Given the description of an element on the screen output the (x, y) to click on. 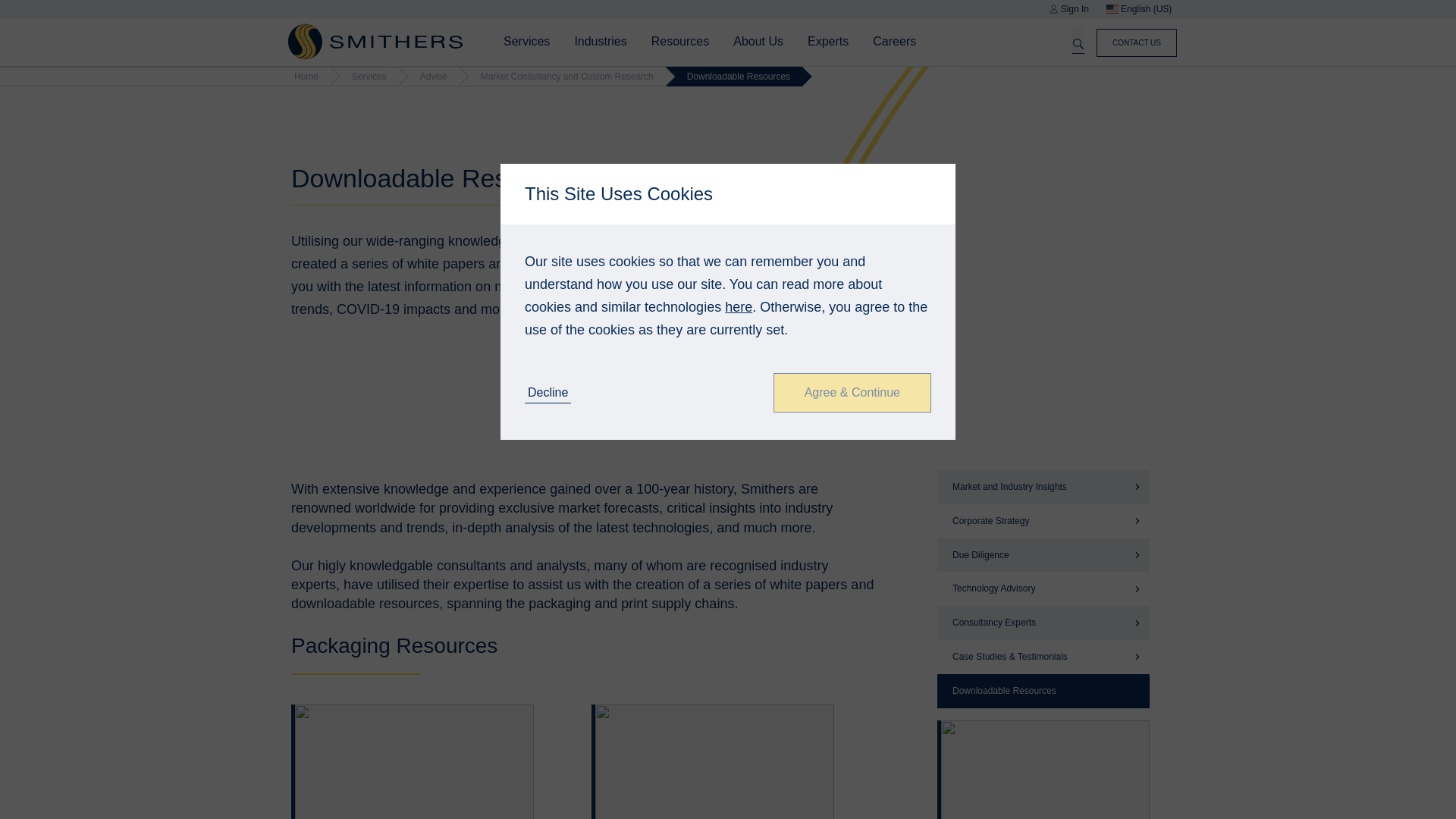
Login (885, 465)
Reset Password (855, 465)
Sign In (1068, 9)
Industries (599, 41)
Home (375, 41)
Services (526, 41)
